Given the description of an element on the screen output the (x, y) to click on. 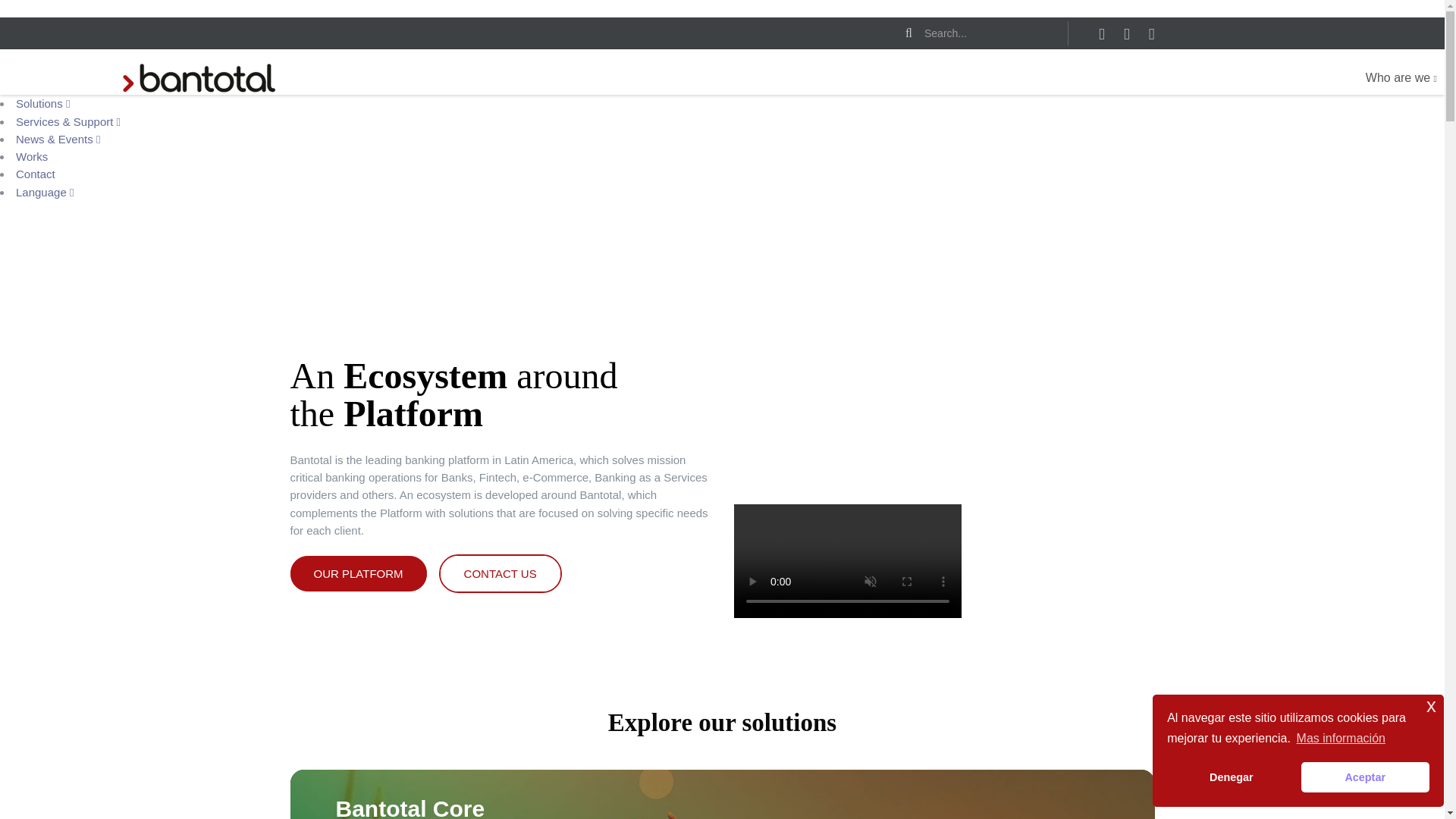
Who are we (1401, 78)
Language (45, 191)
Works (32, 155)
Solutions (42, 103)
Contact (35, 173)
